Given the description of an element on the screen output the (x, y) to click on. 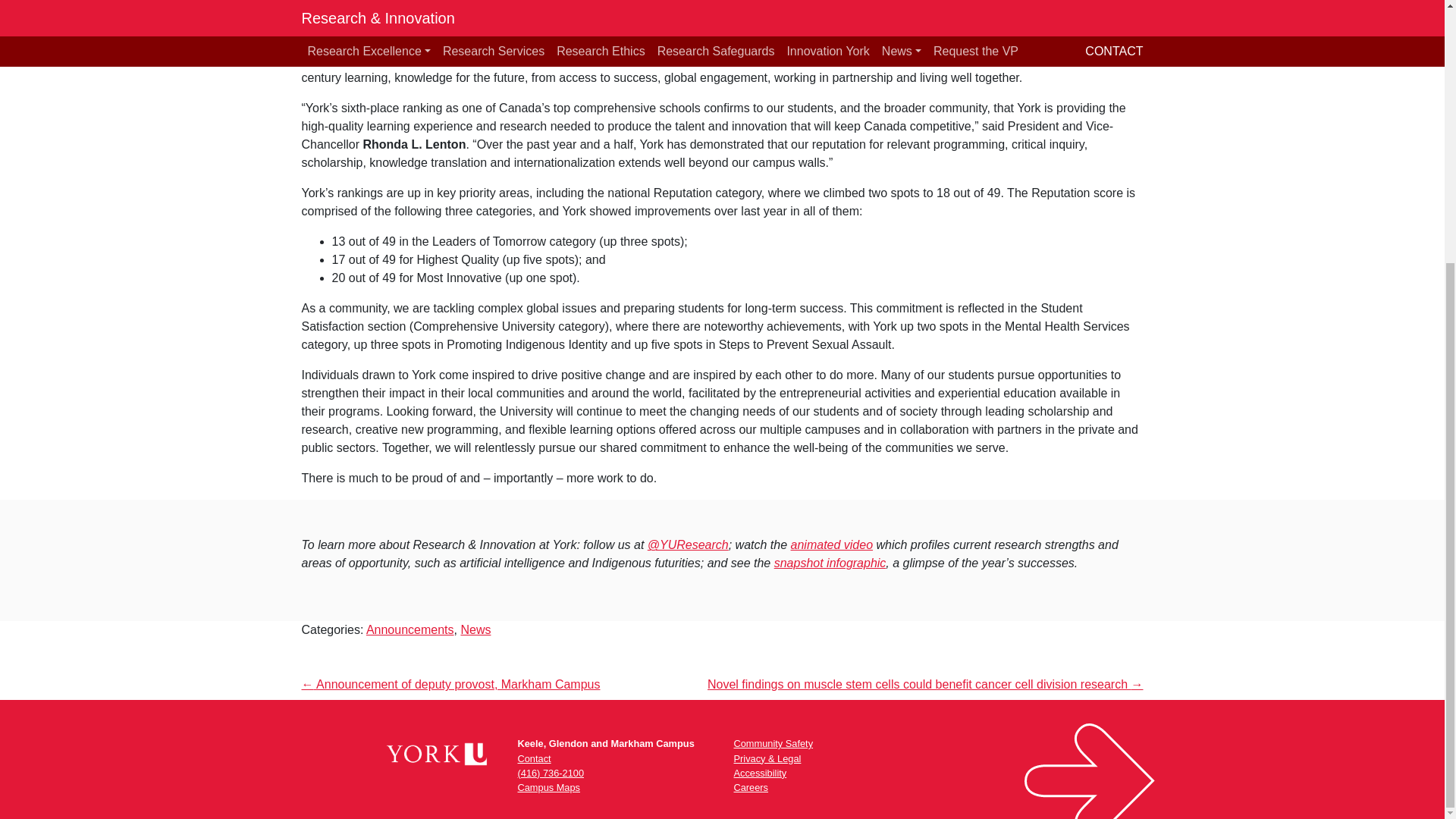
Announcements (410, 629)
News (475, 629)
snapshot infographic (830, 562)
University Academic Plan 2020-25 (750, 41)
animated video (831, 544)
Contact (533, 758)
